Given the description of an element on the screen output the (x, y) to click on. 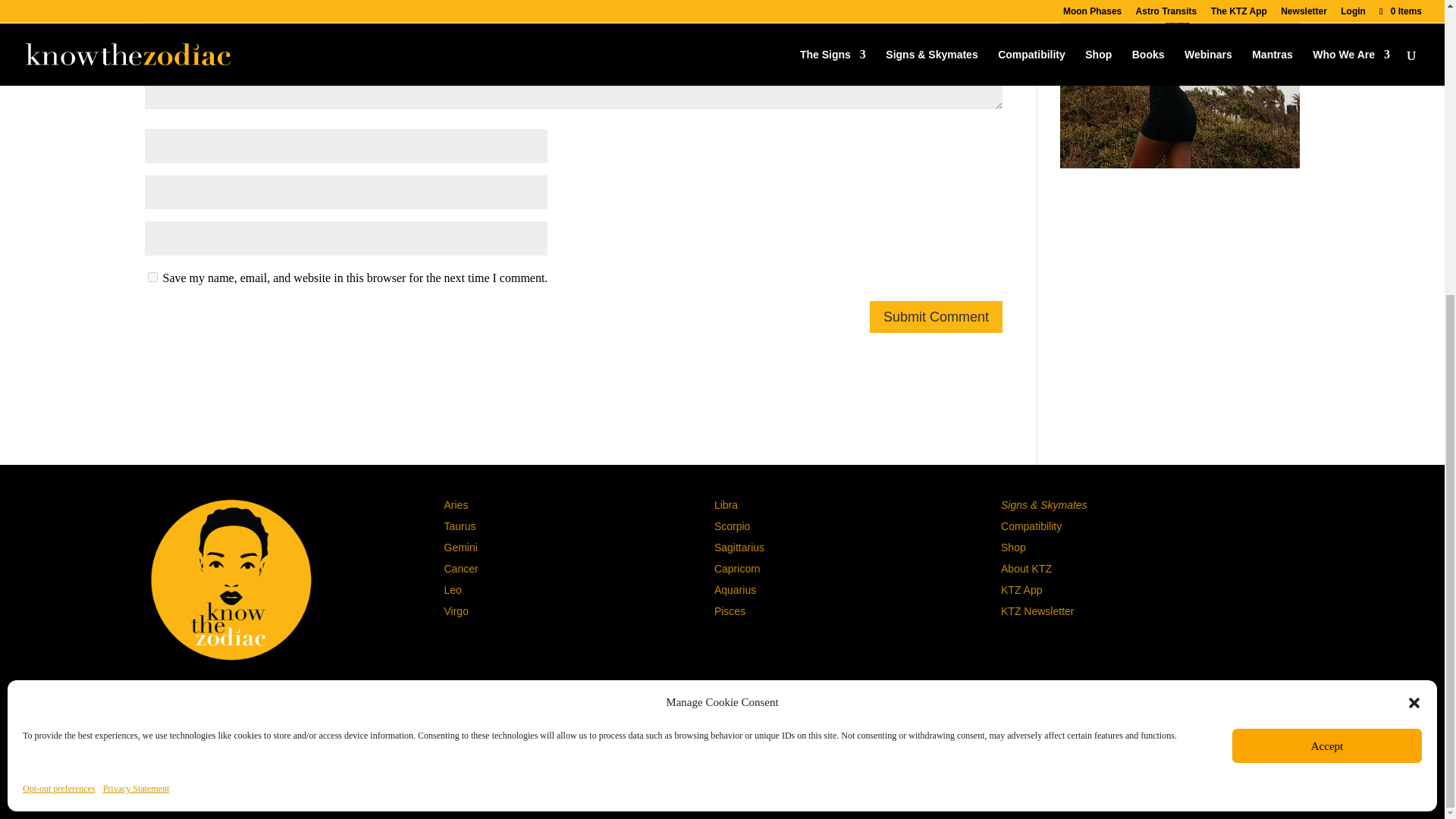
Follow on Facebook (257, 693)
Accept (1326, 293)
Opt-out preferences (59, 336)
RAM Creates design portfolio (925, 778)
Submit Comment (936, 316)
cropped-know-the-zodiac-ogo-cirlcle-512.png (230, 579)
Follow on Twitter (230, 693)
yes (152, 276)
Privacy Statement (136, 336)
Follow on Instagram (203, 693)
